Given the description of an element on the screen output the (x, y) to click on. 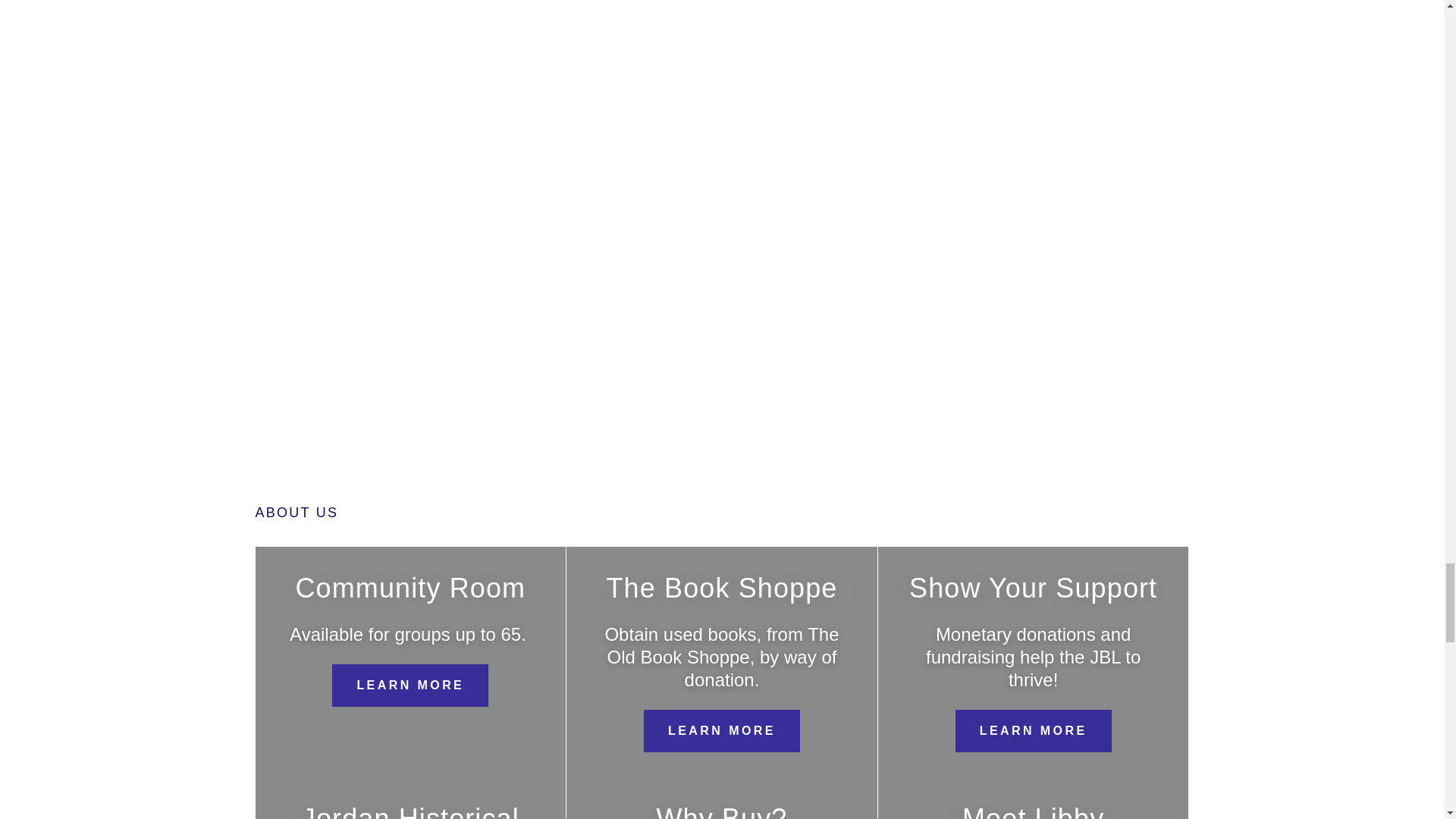
LEARN MORE (721, 731)
LEARN MORE (1033, 731)
LEARN MORE (409, 685)
